Given the description of an element on the screen output the (x, y) to click on. 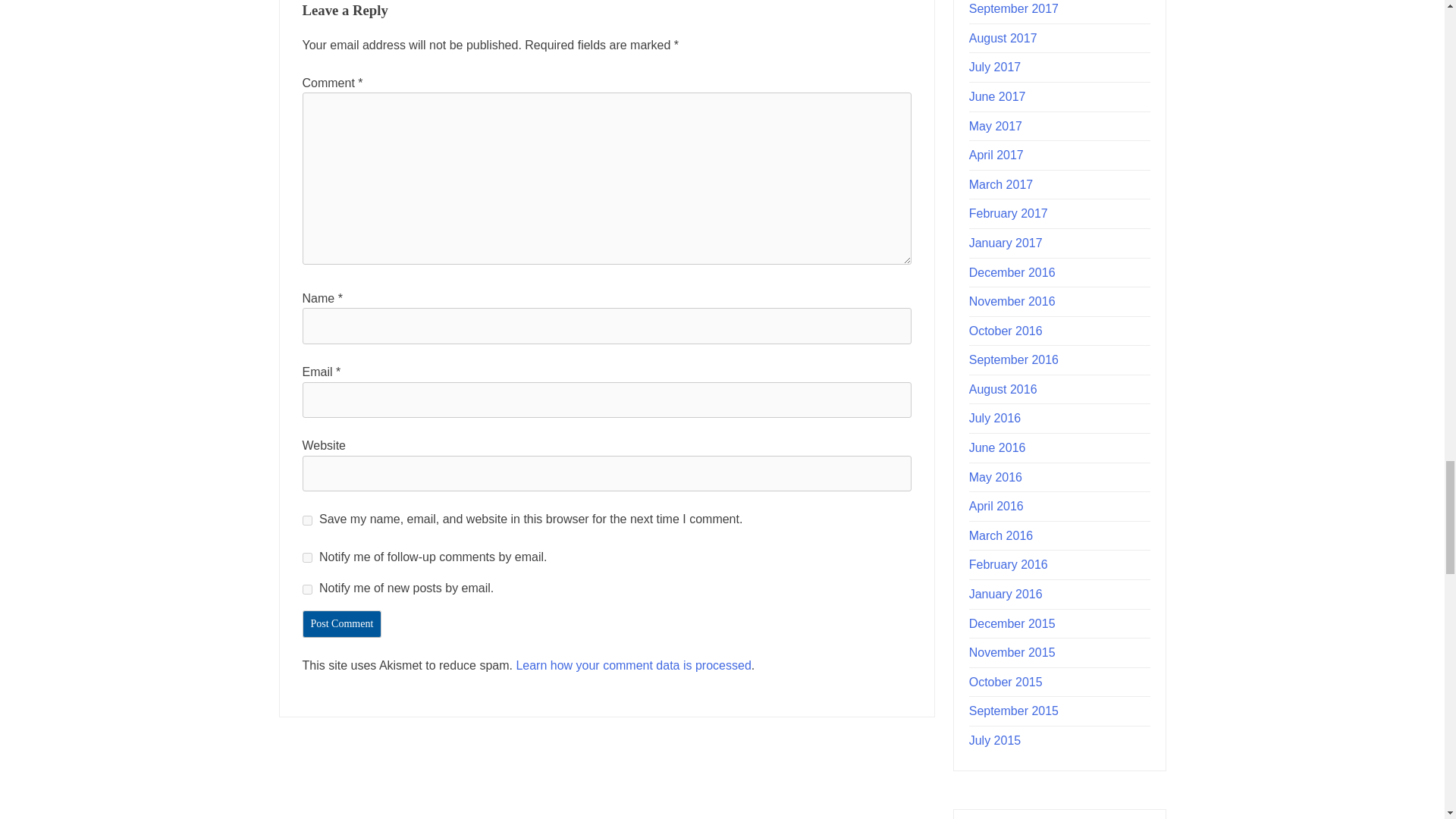
Post Comment (341, 624)
subscribe (306, 557)
Post Comment (341, 624)
yes (306, 520)
subscribe (306, 589)
